Given the description of an element on the screen output the (x, y) to click on. 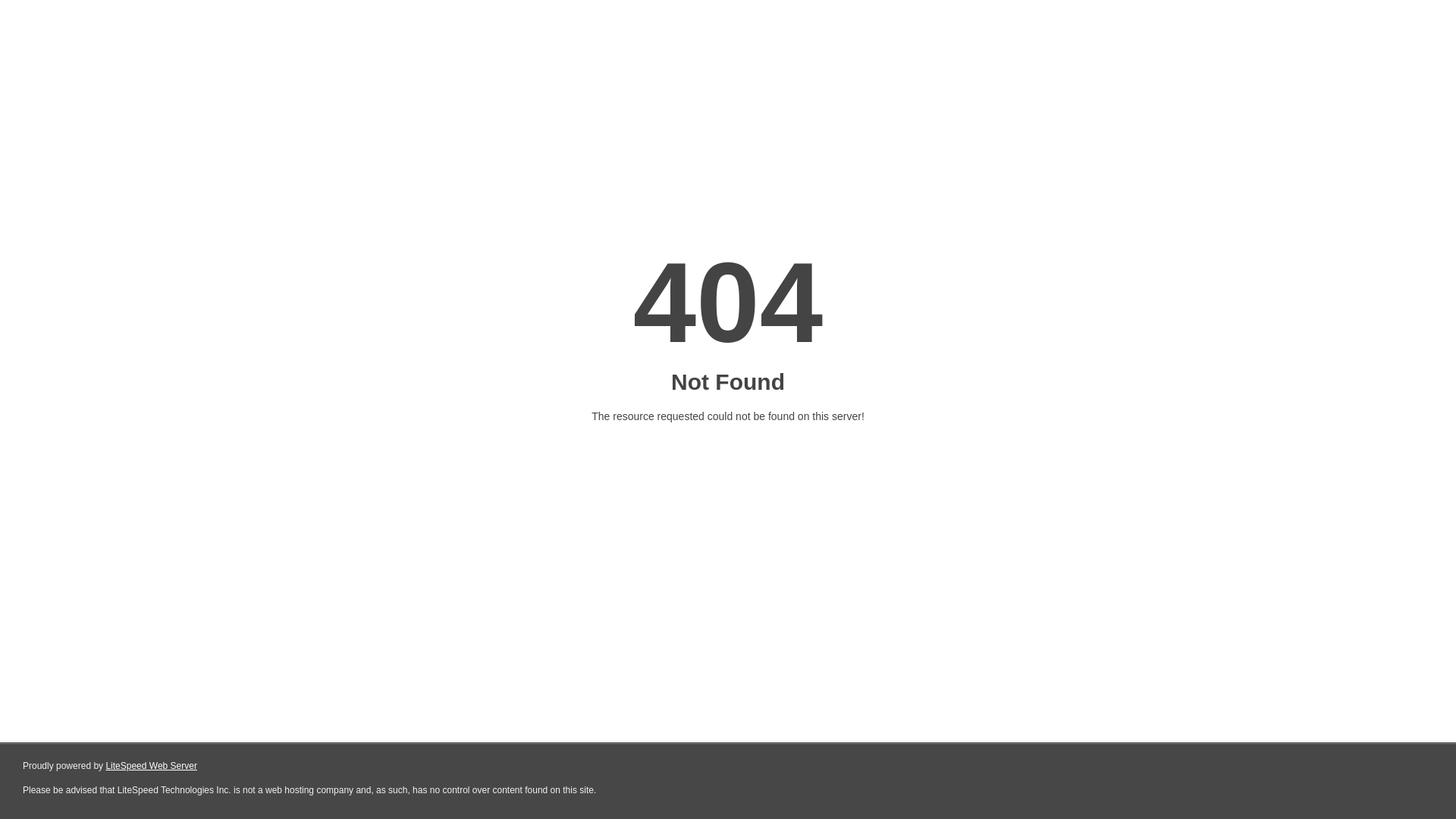
LiteSpeed Web Server Element type: text (151, 765)
